Given the description of an element on the screen output the (x, y) to click on. 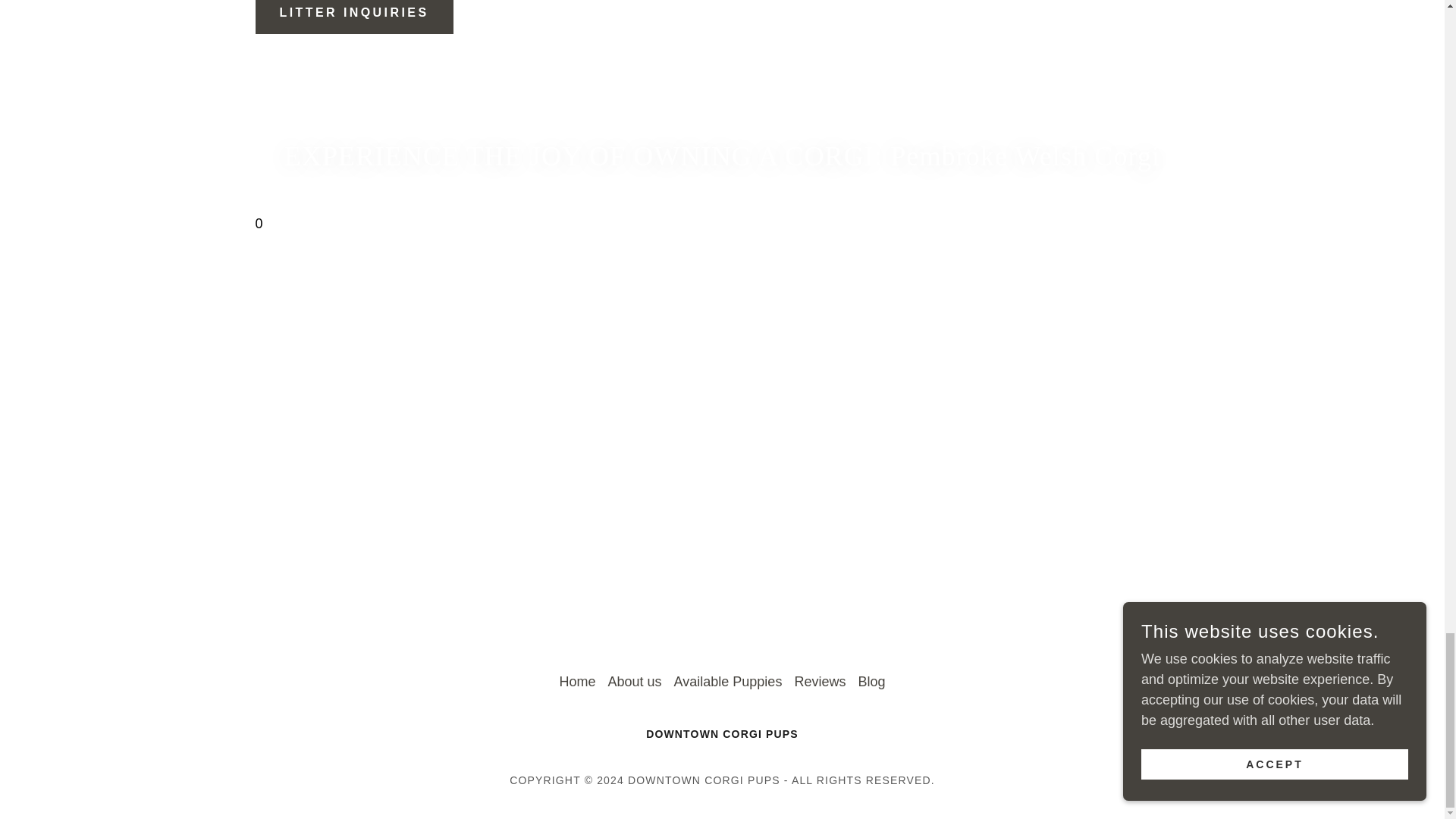
Home (577, 682)
Reviews (819, 682)
Available Puppies (728, 682)
About us (635, 682)
Blog (871, 682)
LITTER INQUIRIES (353, 17)
